Given the description of an element on the screen output the (x, y) to click on. 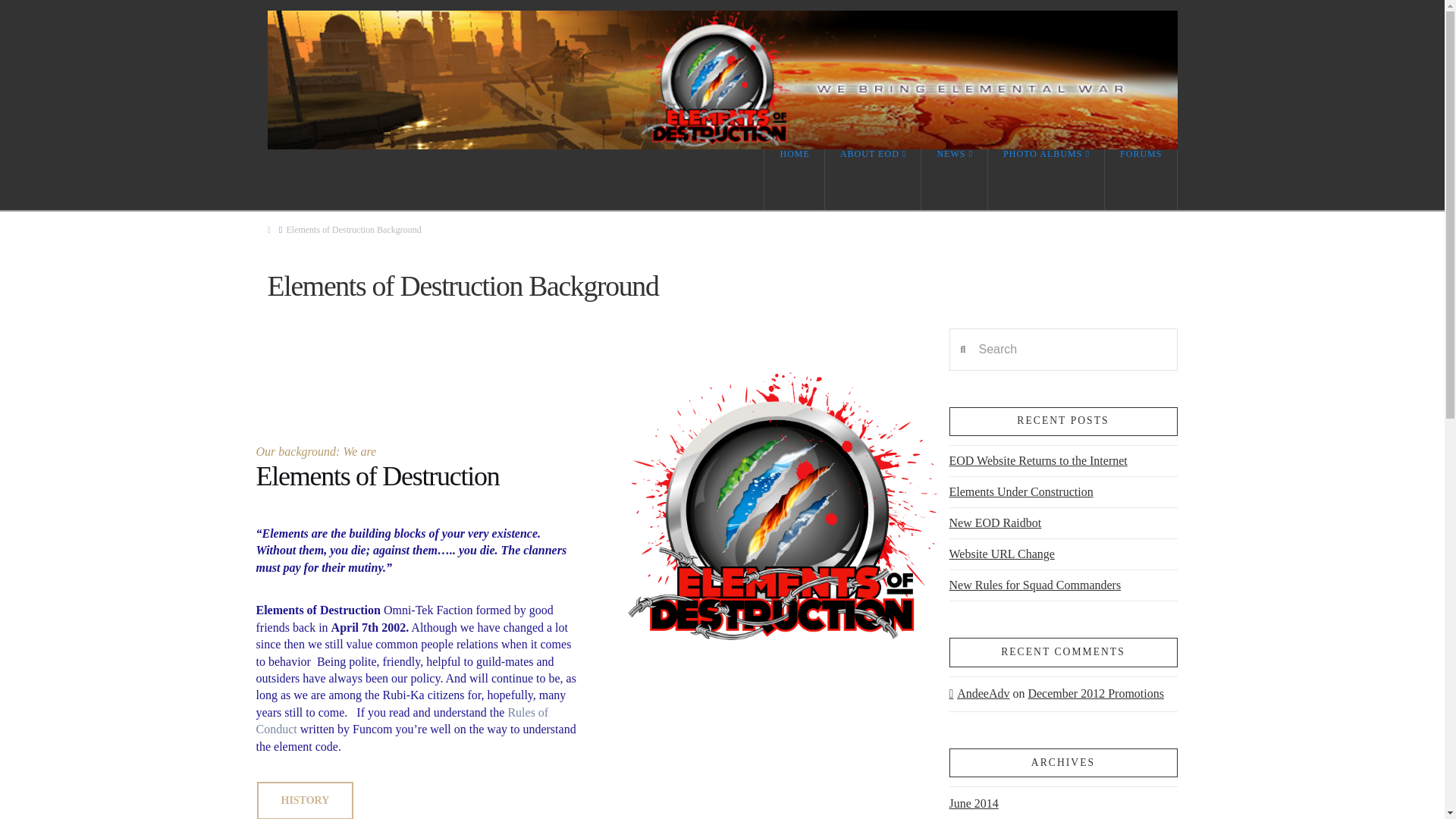
HOME (793, 179)
FORUMS (1140, 179)
ABOUT EOD (873, 179)
You Are Here (352, 229)
We Bring Elemental War (721, 79)
eod-logo (782, 509)
NEWS (954, 179)
PHOTO ALBUMS (1046, 179)
